Given the description of an element on the screen output the (x, y) to click on. 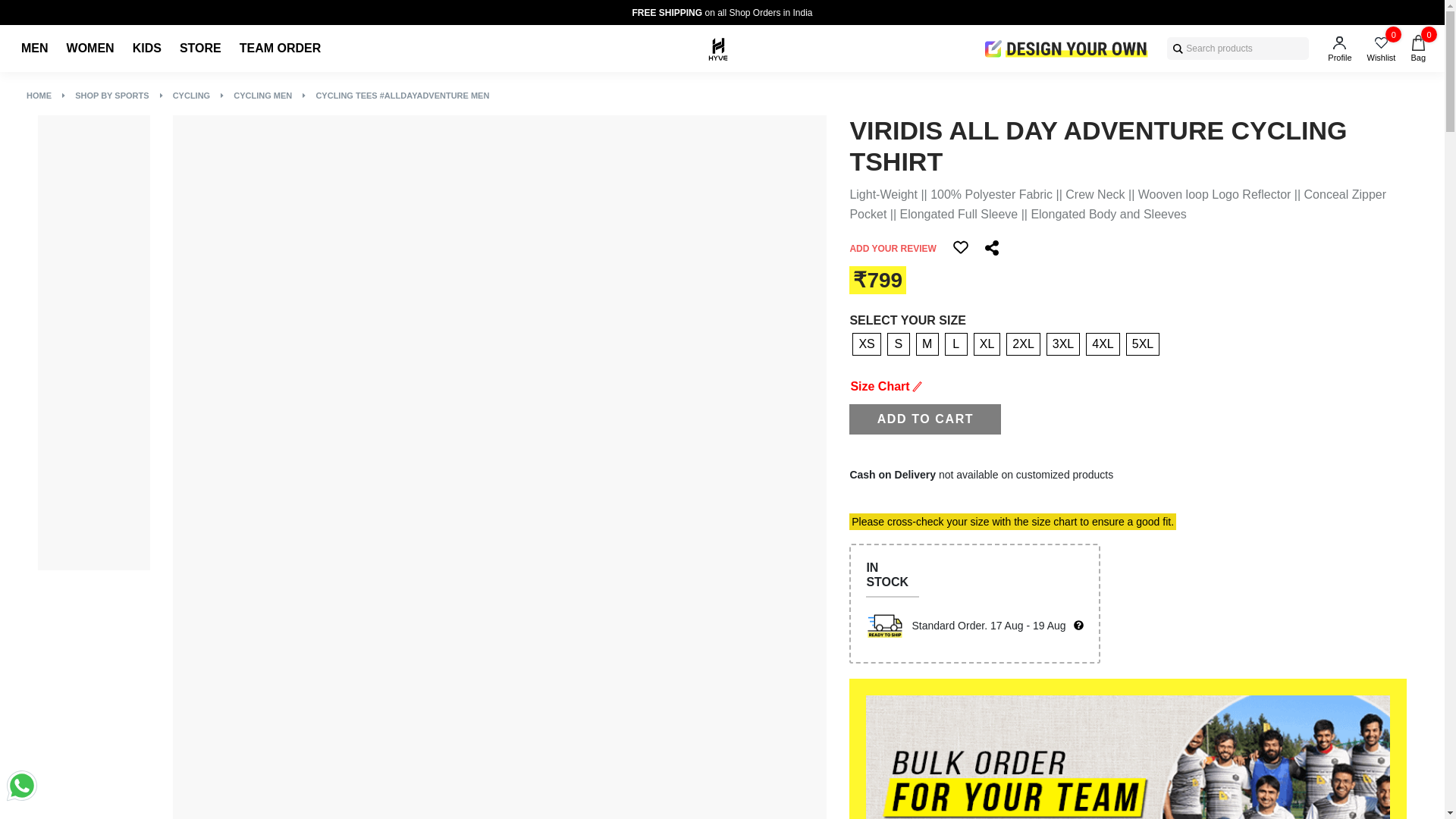
M (927, 343)
MEN (34, 47)
4XL (1102, 343)
S (898, 343)
XS (865, 343)
L (956, 343)
2XL (1022, 343)
5XL (1141, 343)
XL (987, 343)
3XL (1063, 343)
